Given the description of an element on the screen output the (x, y) to click on. 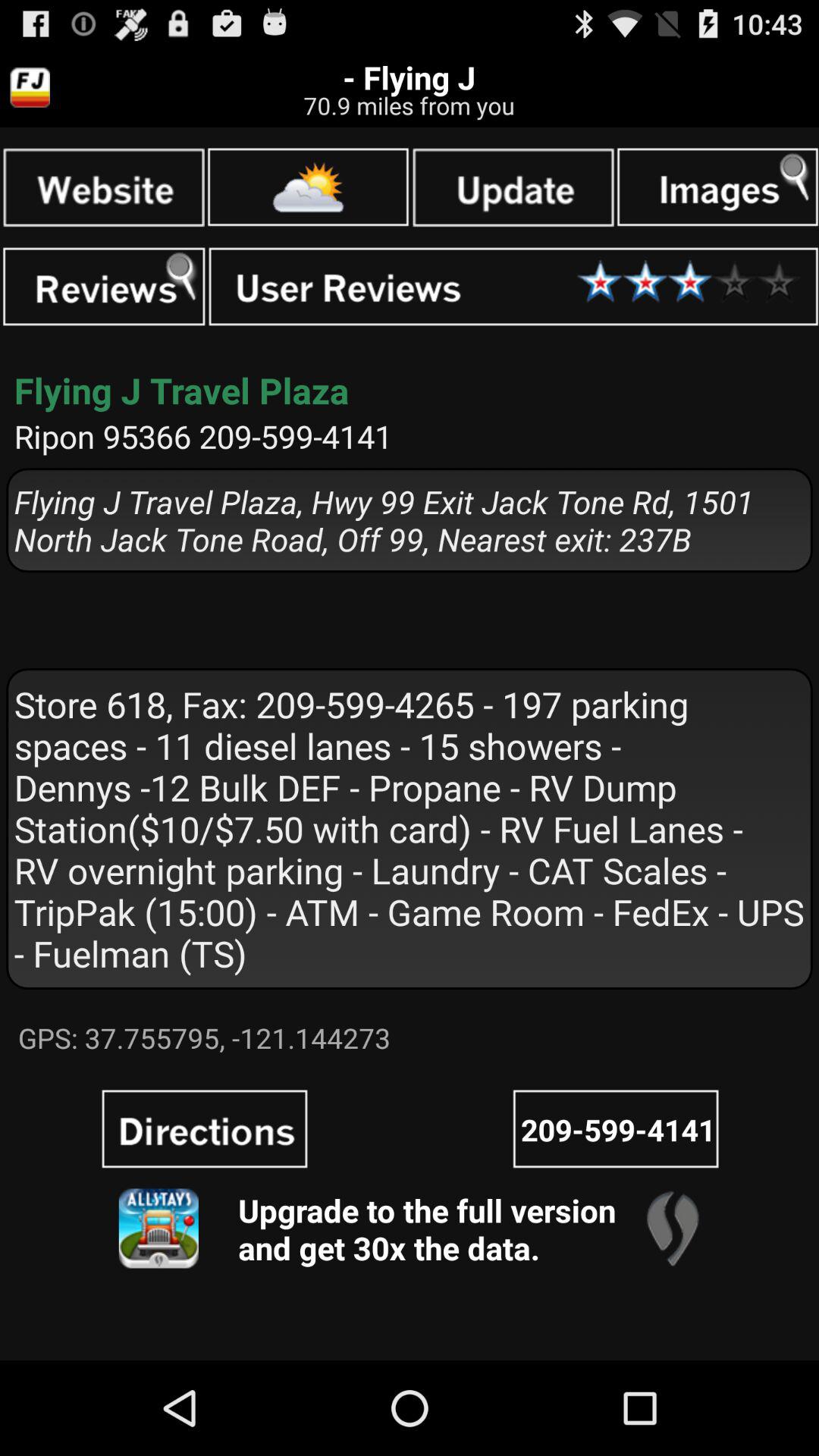
go to directions (204, 1128)
